Given the description of an element on the screen output the (x, y) to click on. 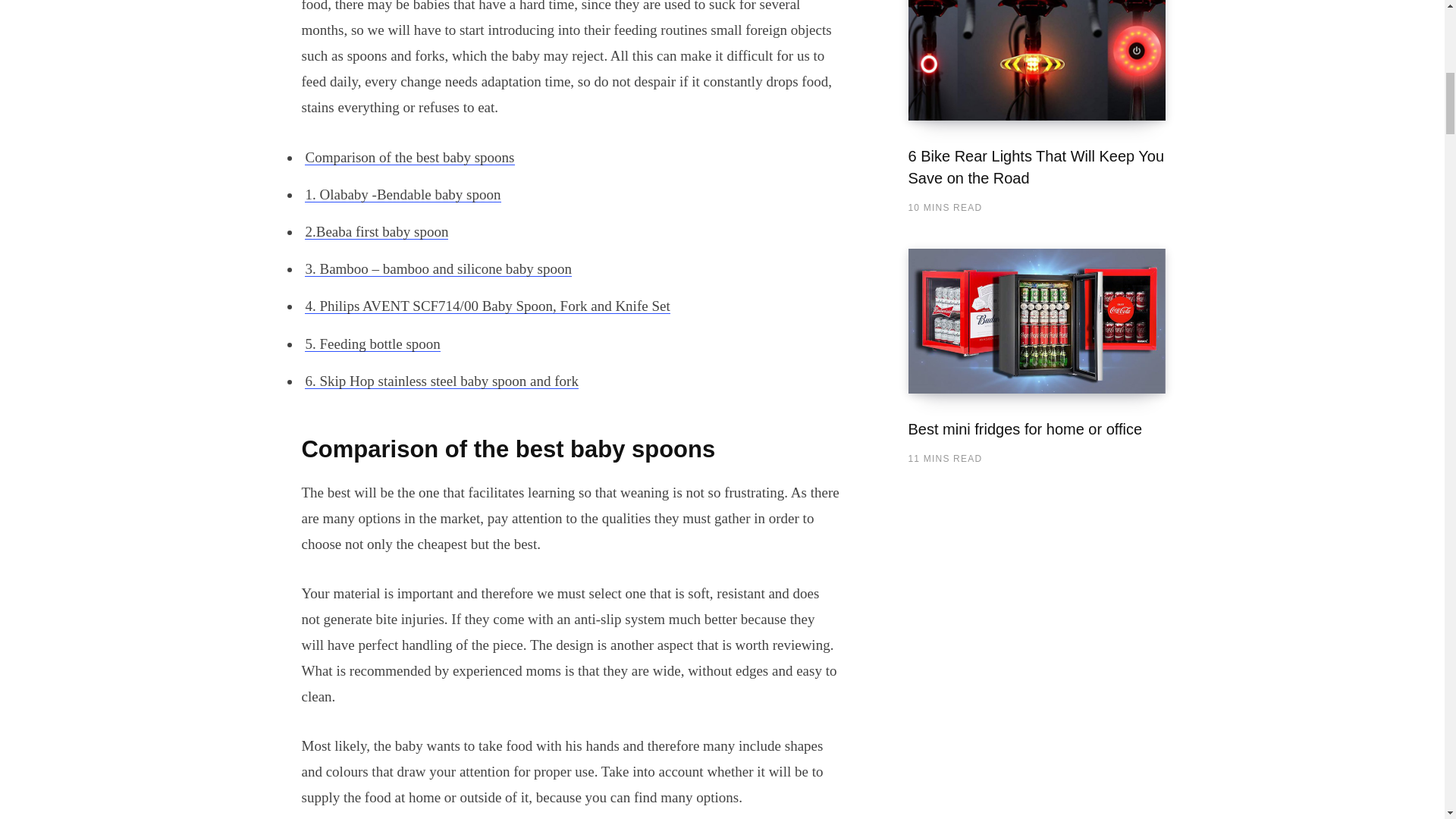
6. Skip Hop stainless steel baby spoon and fork (441, 381)
2.Beaba first baby spoon (376, 231)
5. Feeding bottle spoon (371, 343)
1. Olababy -Bendable baby spoon (402, 194)
Comparison of the best baby spoons (408, 157)
1. Olababy -Bendable baby spoon (402, 194)
2.Beaba first baby spoon (376, 231)
5. Feeding bottle spoon (371, 343)
6. Skip Hop stainless steel baby spoon and fork (441, 381)
Comparison of the best baby spoons (408, 157)
